Given the description of an element on the screen output the (x, y) to click on. 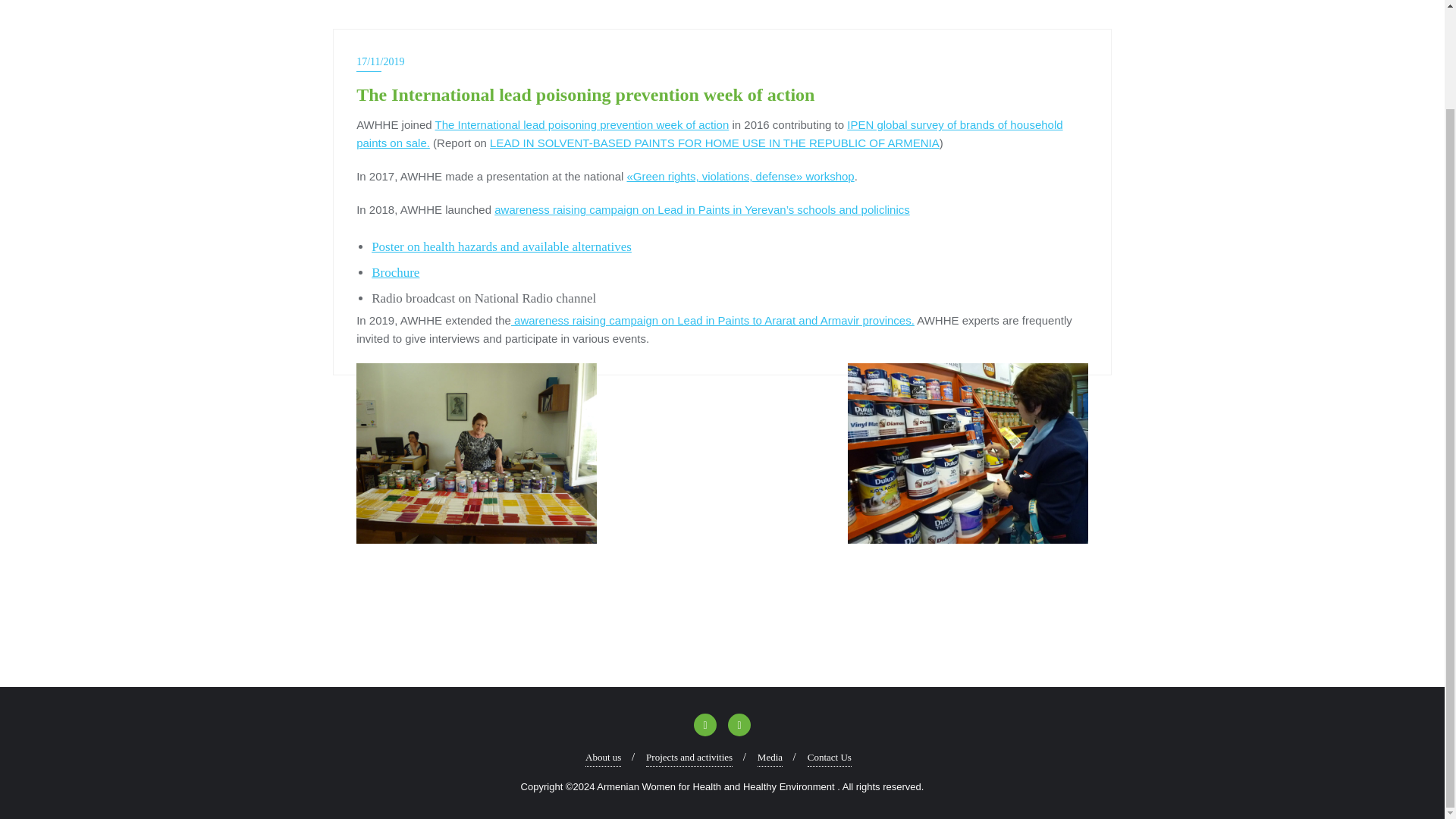
Poster on health hazards and available alternatives (501, 246)
Brochure (395, 272)
IPEN global survey of brands of household paints on sale. (709, 133)
The International lead poisoning prevention week of action (582, 124)
